Given the description of an element on the screen output the (x, y) to click on. 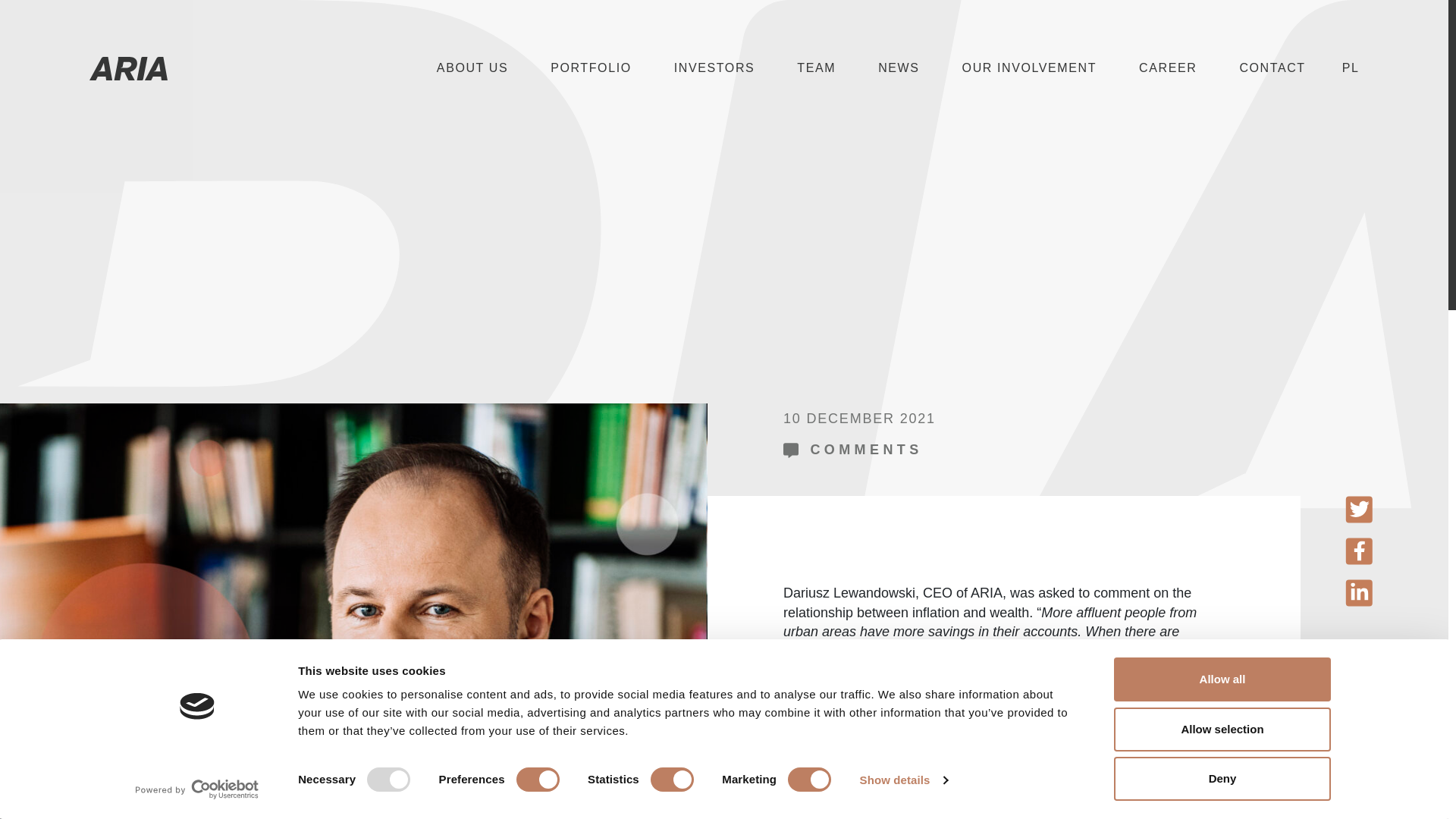
News (898, 68)
Investors (714, 68)
Team (815, 68)
Deny (1221, 778)
Career (1167, 68)
Portfolio (590, 68)
About us (471, 68)
Allow selection (1221, 728)
Allow all (1221, 679)
Show details (903, 780)
